Given the description of an element on the screen output the (x, y) to click on. 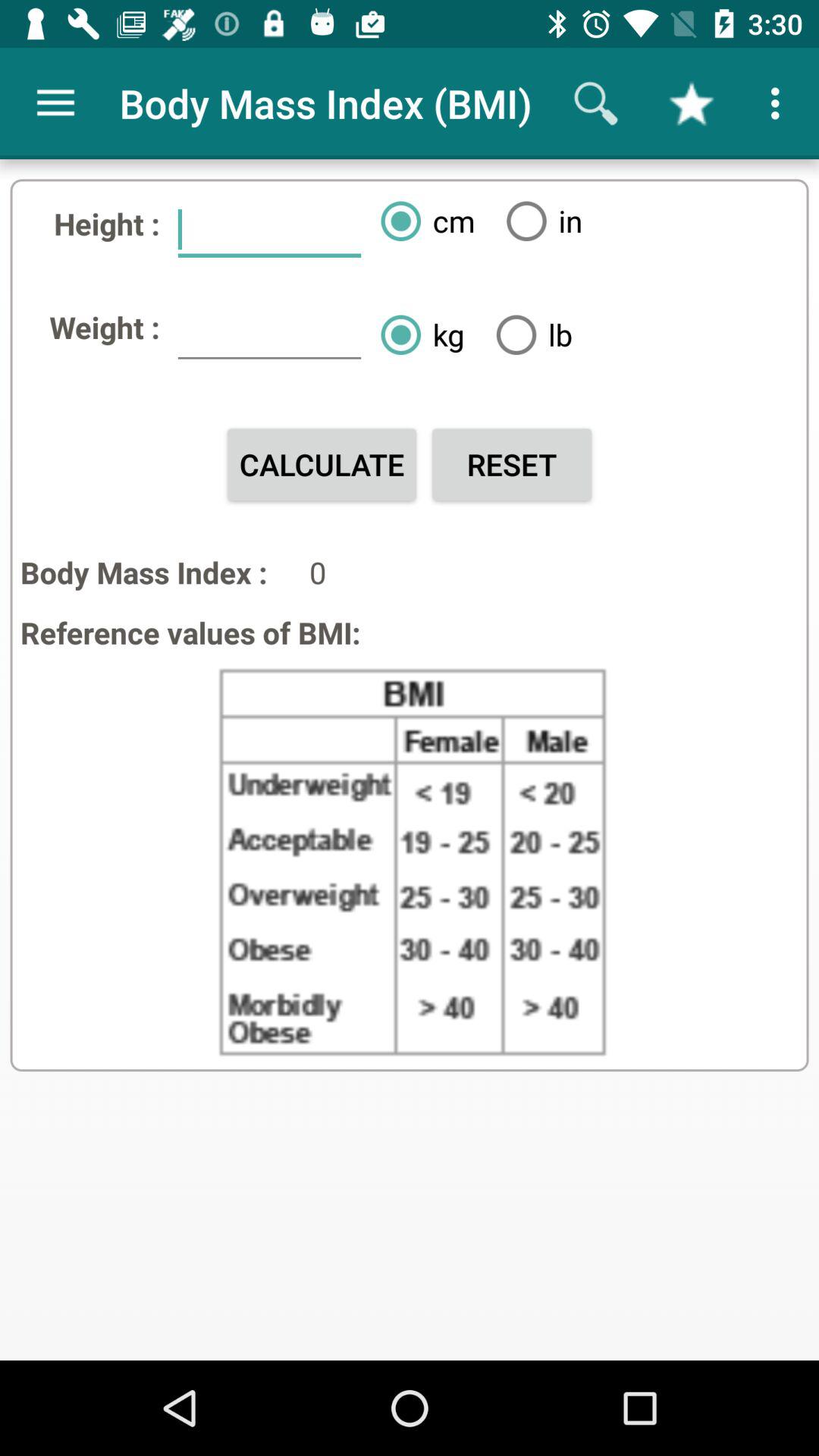
flip to kg (416, 334)
